Given the description of an element on the screen output the (x, y) to click on. 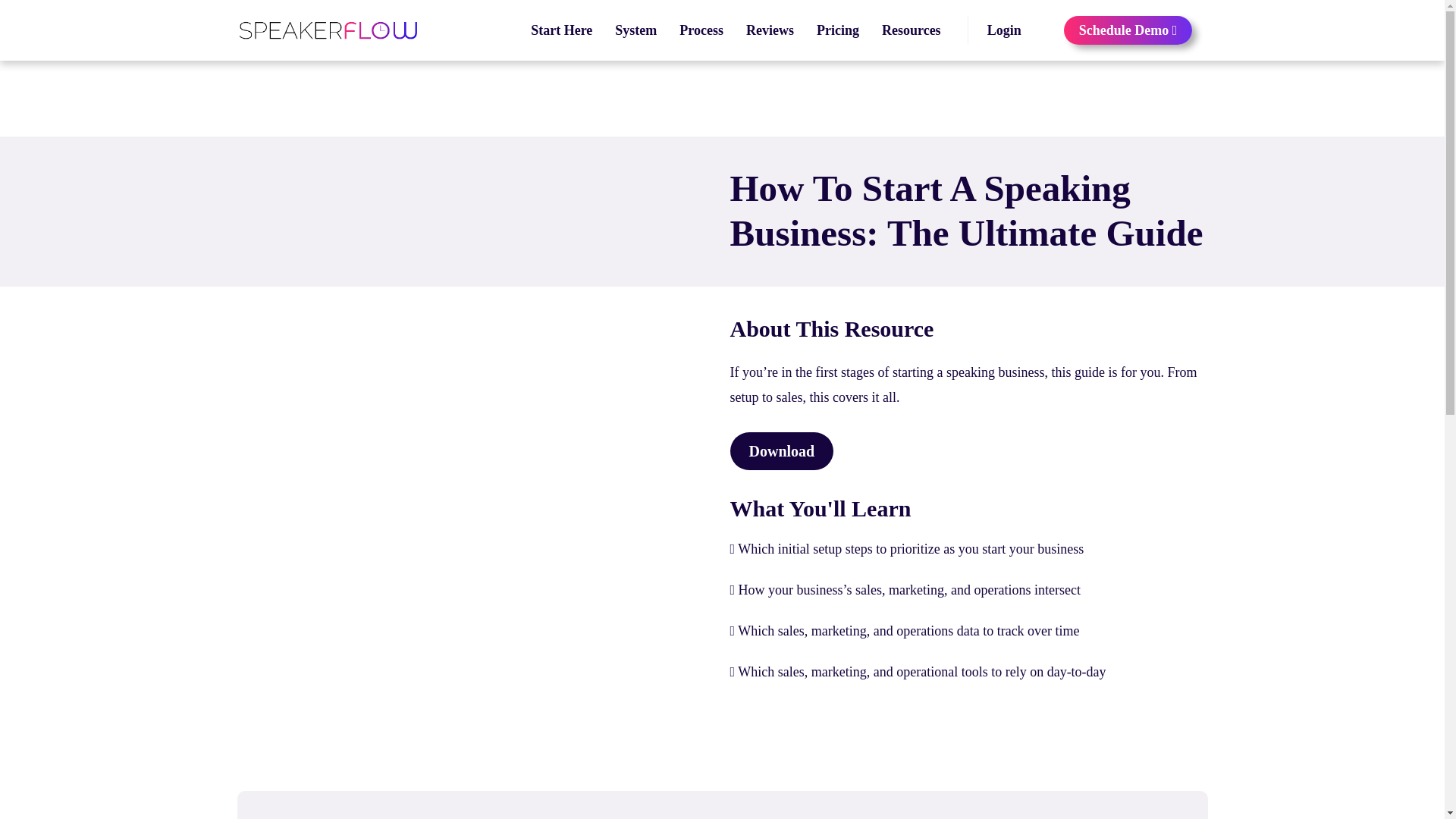
Process (701, 30)
Login (1003, 30)
Start Here (561, 30)
Reviews (770, 30)
System (636, 30)
Pricing (837, 30)
Resources (911, 30)
